Given the description of an element on the screen output the (x, y) to click on. 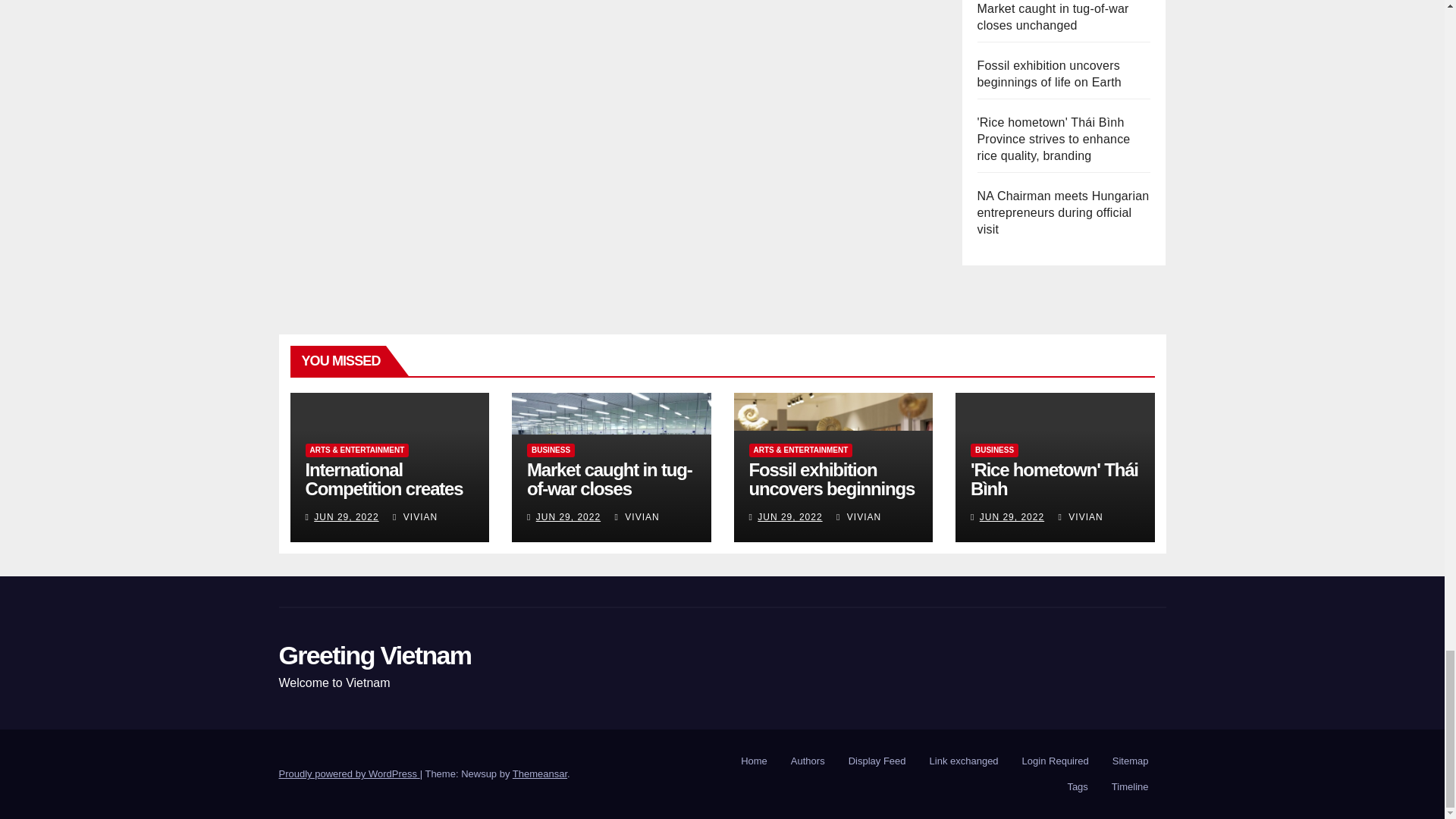
Permalink to: Market caught in tug-of-war closes unchanged (609, 488)
Home (754, 760)
